Given the description of an element on the screen output the (x, y) to click on. 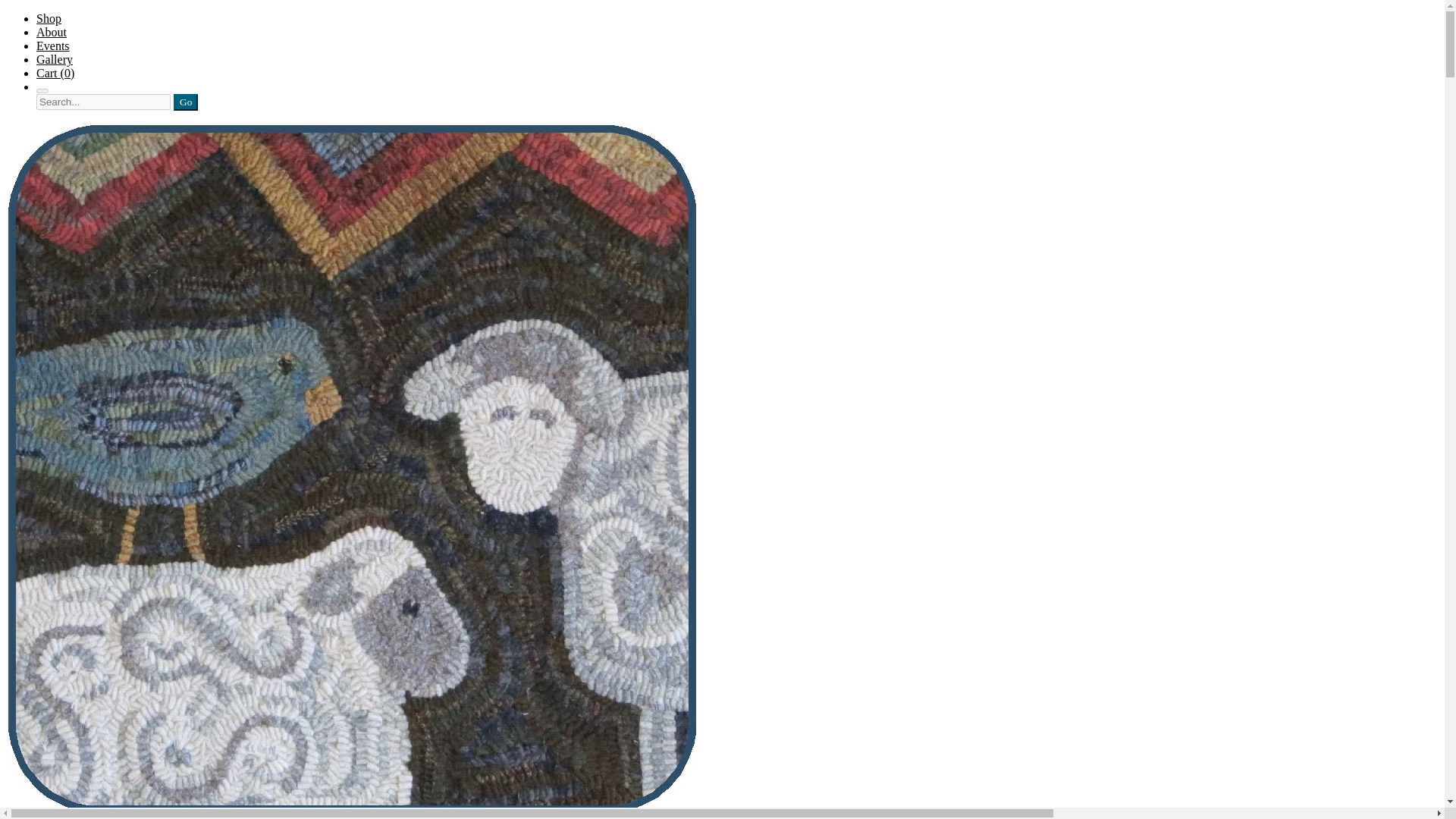
Gallery (54, 59)
Go (185, 102)
Events (52, 45)
Shop (48, 18)
Go (185, 102)
About (51, 31)
